Given the description of an element on the screen output the (x, y) to click on. 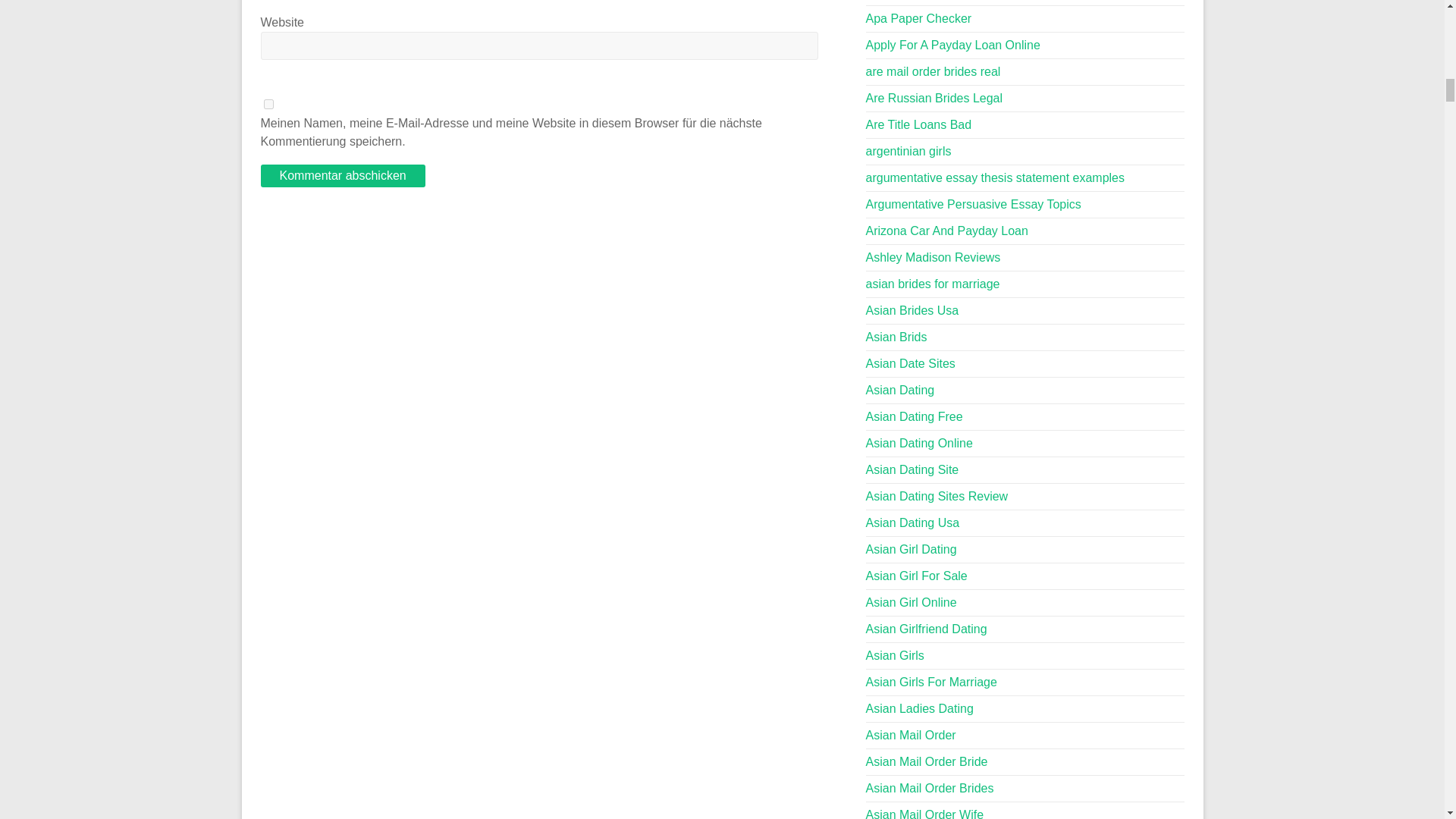
Kommentar abschicken (342, 175)
yes (268, 103)
Kommentar abschicken (342, 175)
